Given the description of an element on the screen output the (x, y) to click on. 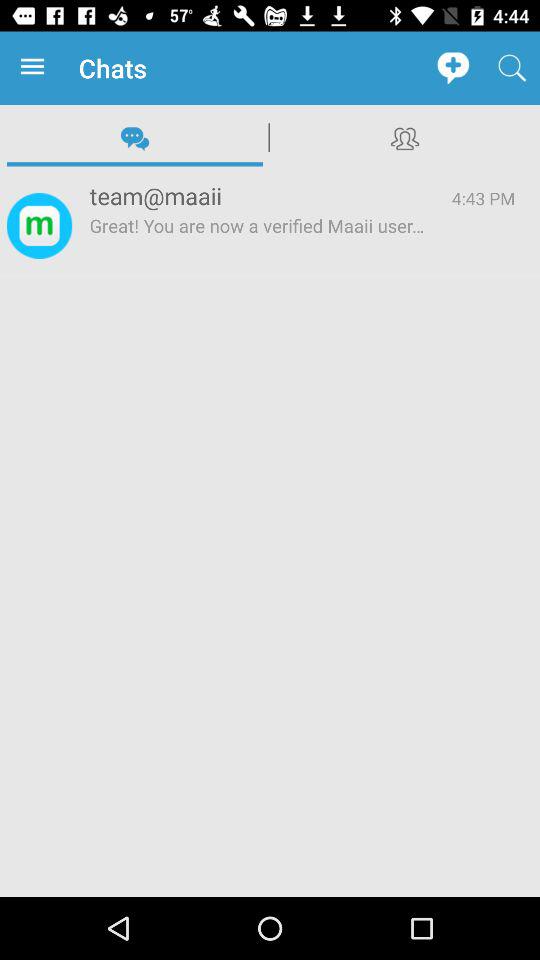
select icon to the right of the chats (452, 67)
